Given the description of an element on the screen output the (x, y) to click on. 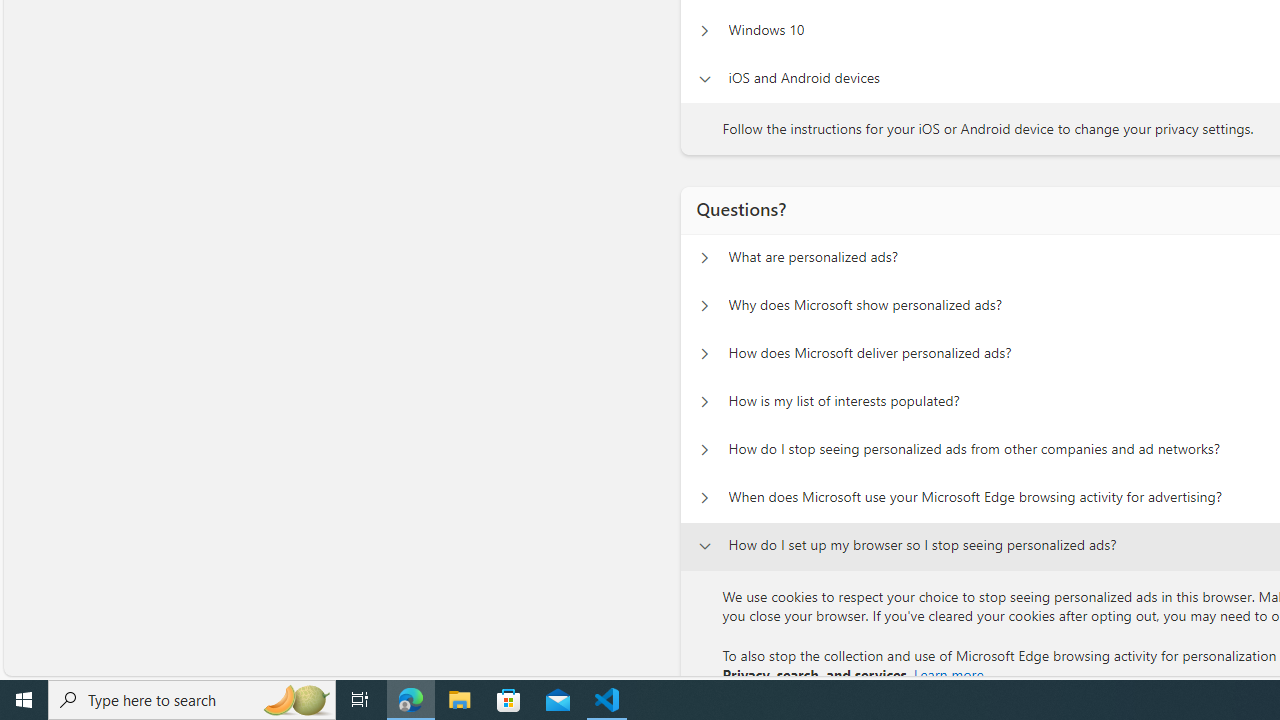
Questions? How does Microsoft deliver personalized ads? (704, 353)
Manage personalized ads on your device Windows 10 (704, 30)
Questions? What are personalized ads? (704, 258)
Questions? Why does Microsoft show personalized ads? (704, 306)
Questions? How is my list of interests populated? (704, 401)
